Given the description of an element on the screen output the (x, y) to click on. 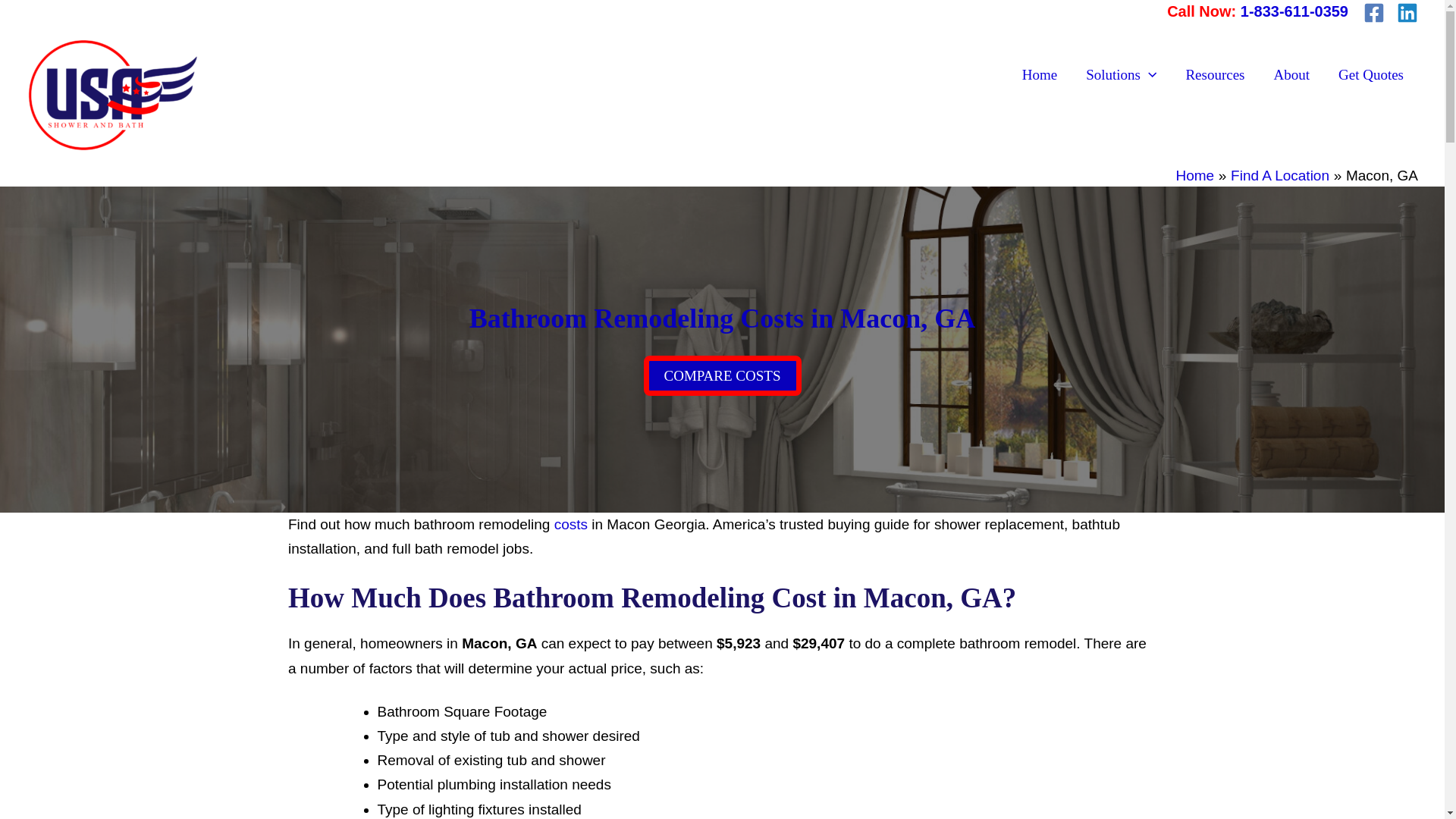
1-833-611-0359 (1294, 11)
Find A Location (1279, 175)
Home (1039, 74)
Home (1194, 175)
Solutions (1120, 74)
About (1291, 74)
Get Quotes (1370, 74)
Resources (1214, 74)
